Given the description of an element on the screen output the (x, y) to click on. 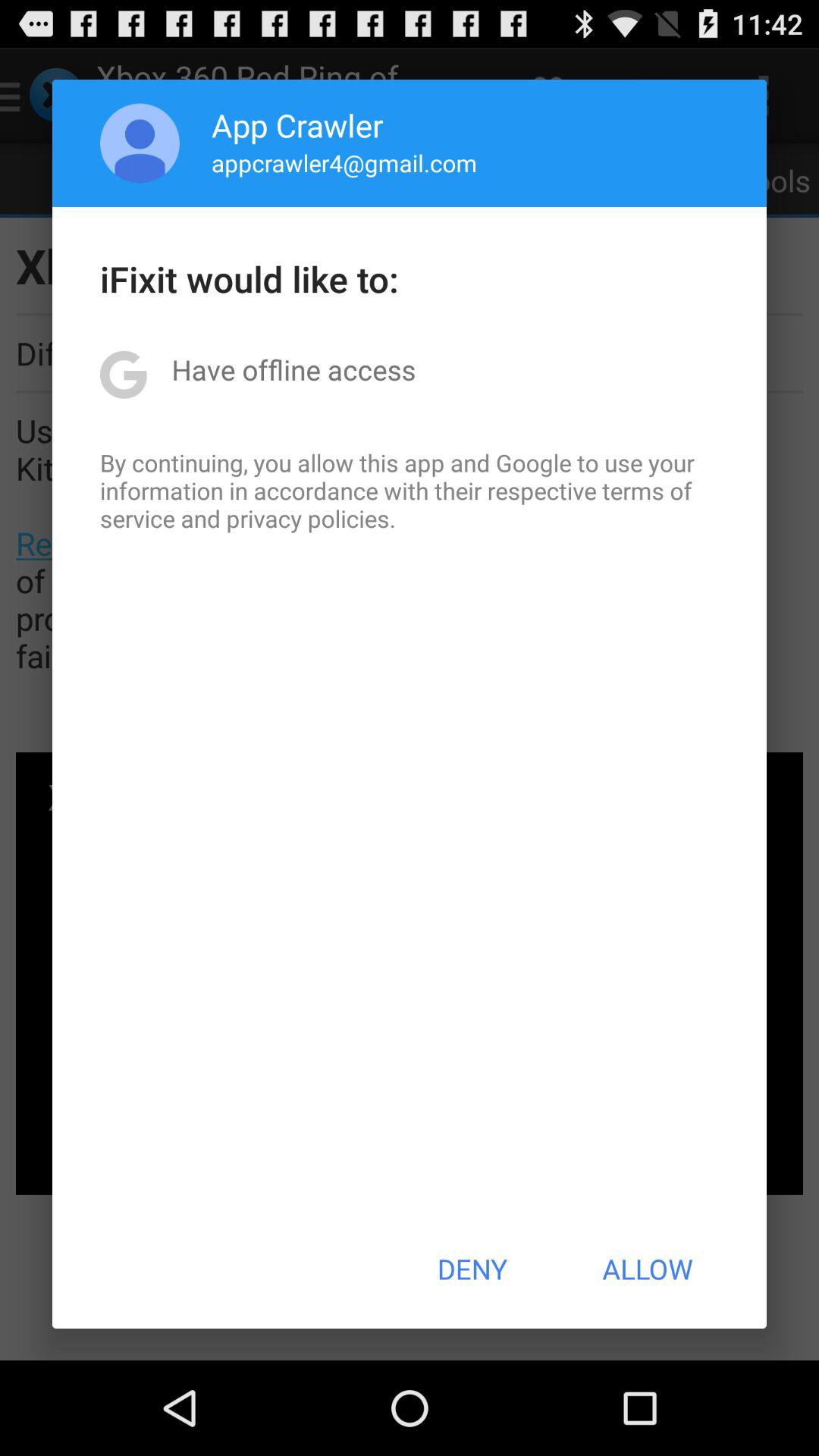
scroll until the appcrawler4@gmail.com item (344, 162)
